Given the description of an element on the screen output the (x, y) to click on. 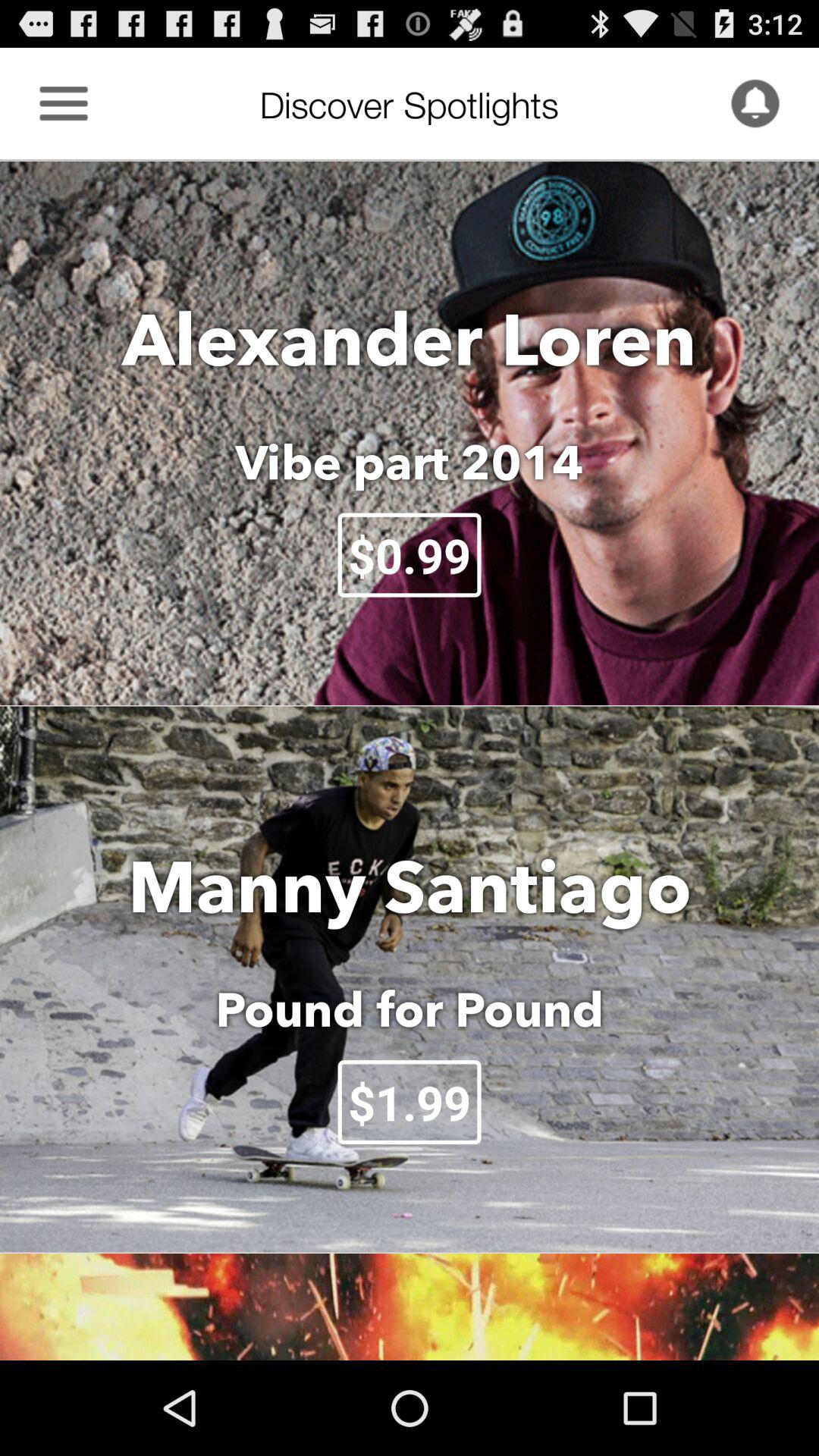
open the pound for pound (409, 1008)
